Given the description of an element on the screen output the (x, y) to click on. 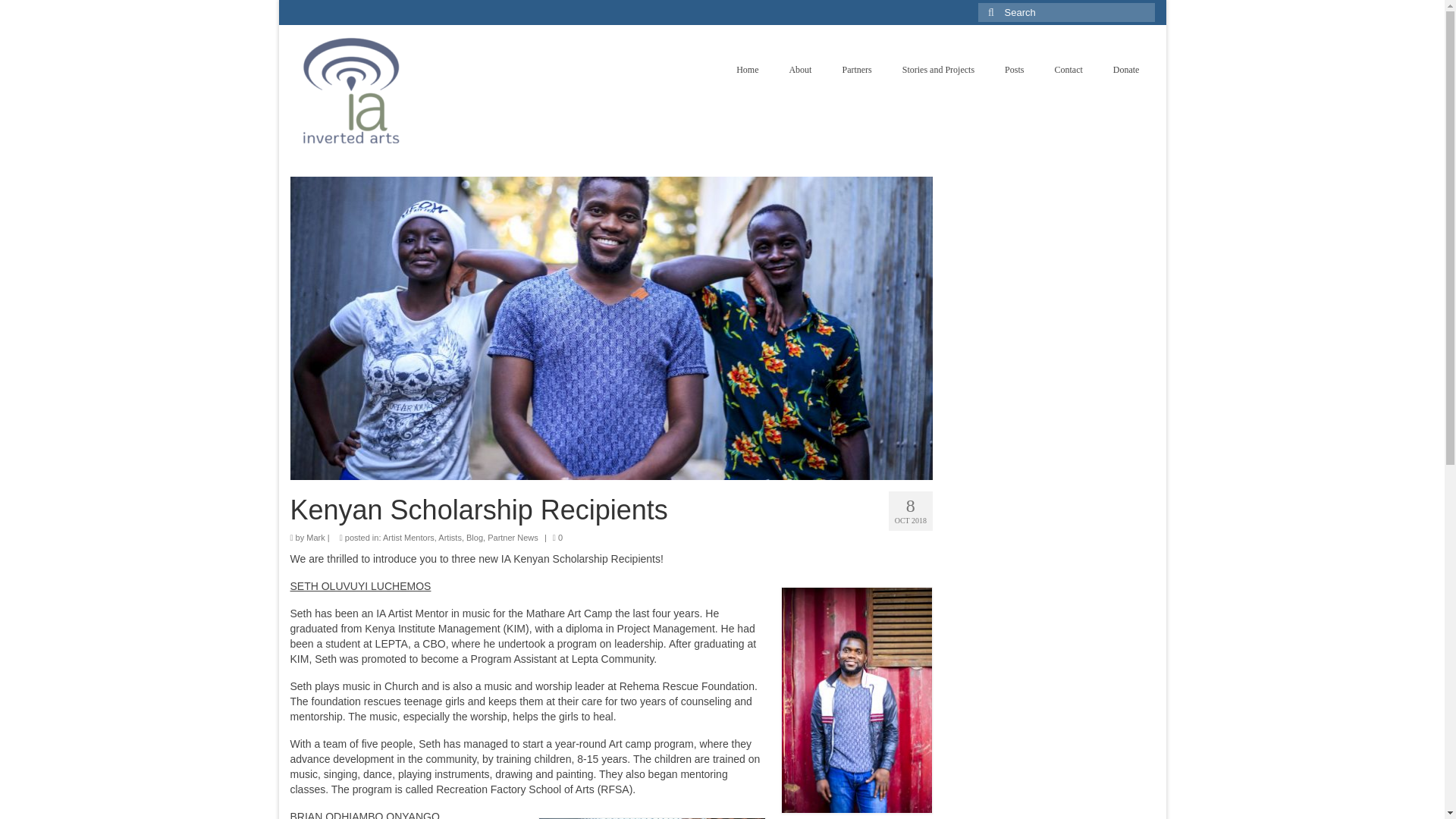
Stories and Projects (938, 69)
Partners (856, 69)
Mark (314, 537)
About (800, 69)
Home (746, 69)
Posts (1014, 69)
Artist Mentors (407, 537)
Donate (1125, 69)
Artists (449, 537)
Contact (1068, 69)
